Given the description of an element on the screen output the (x, y) to click on. 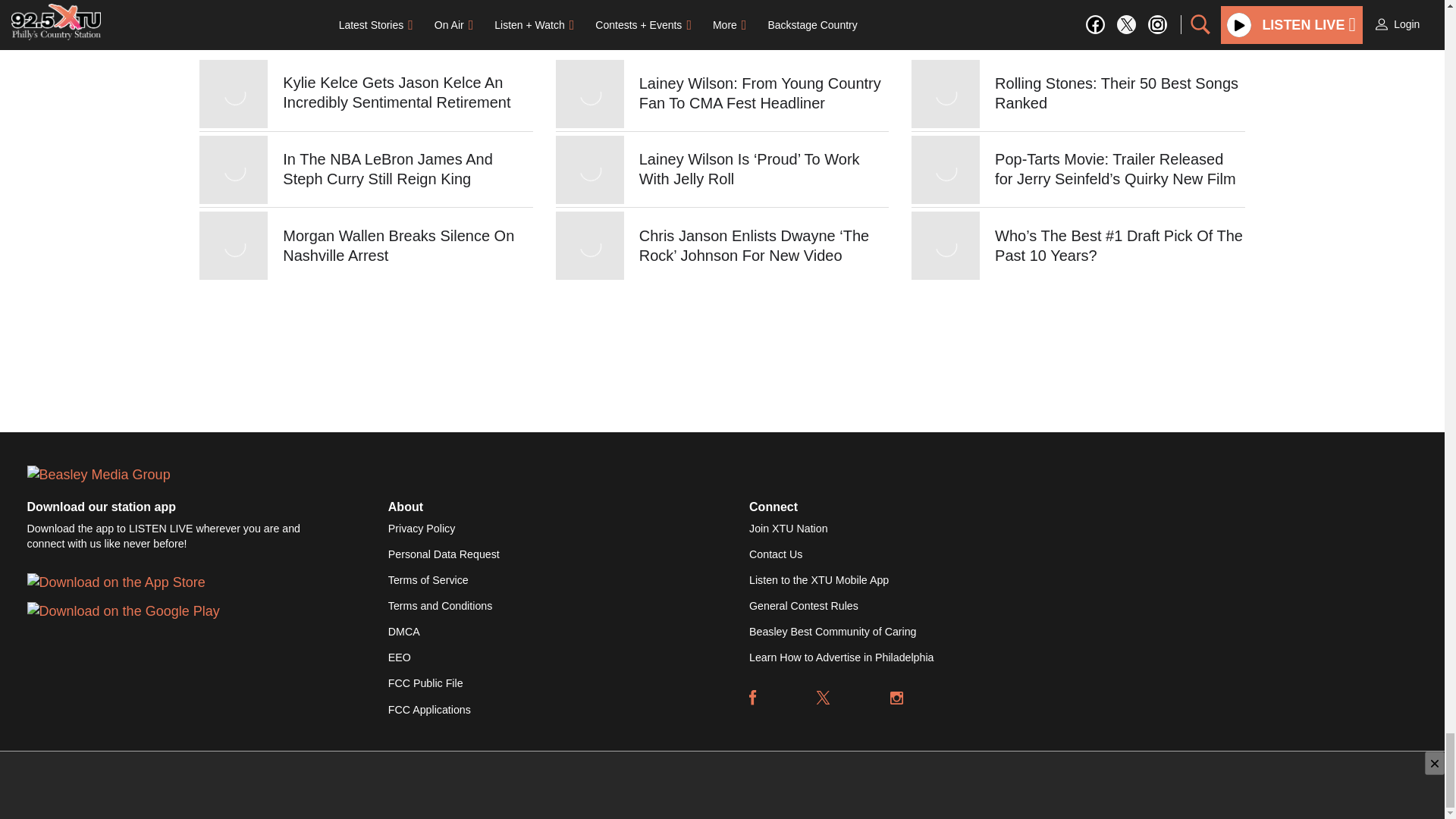
Twitter (823, 697)
Instagram (895, 697)
